Given the description of an element on the screen output the (x, y) to click on. 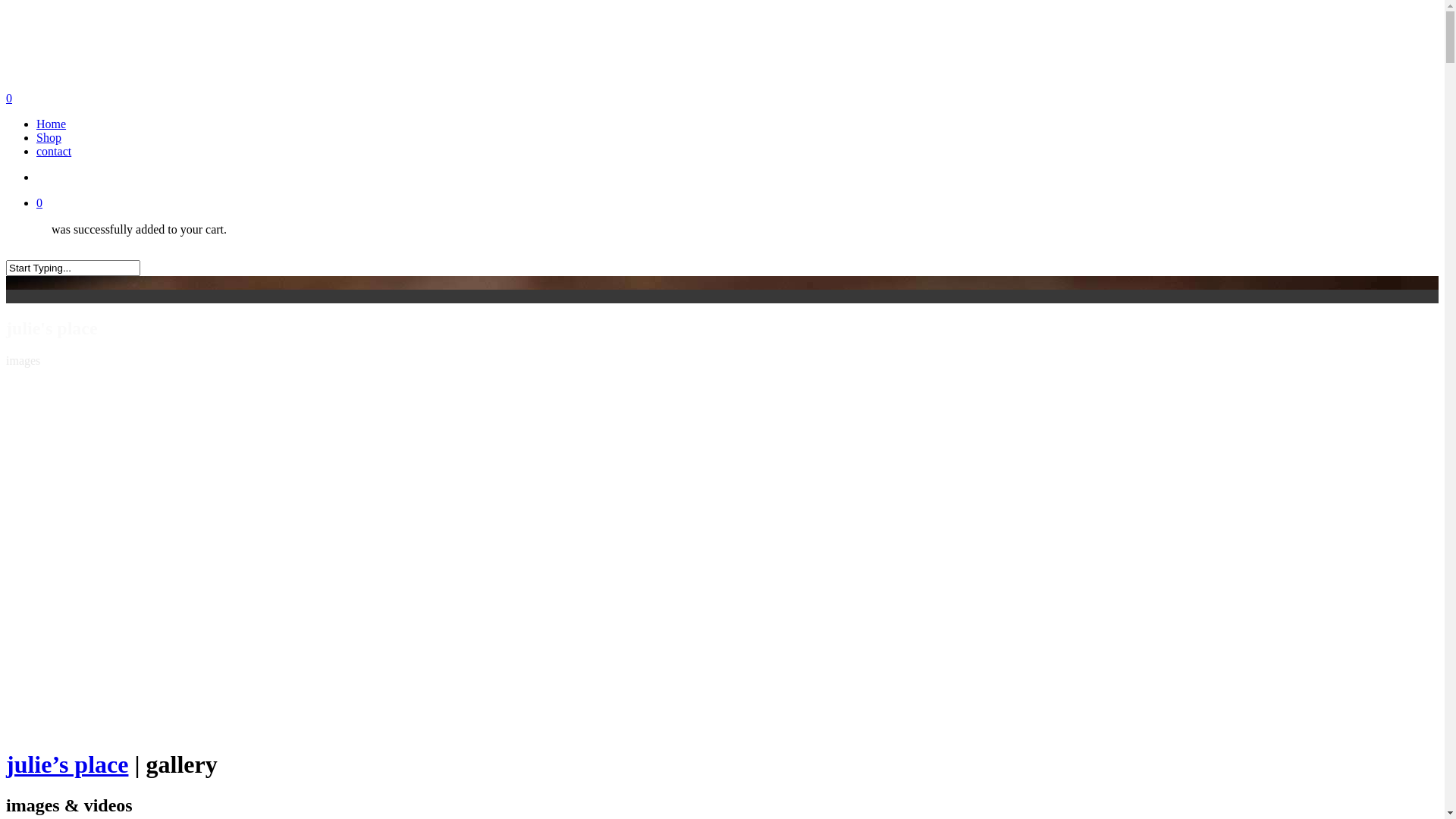
Skip to main content Element type: text (5, 5)
Shop Element type: text (48, 137)
0 Element type: text (722, 98)
0 Element type: text (737, 203)
Home Element type: text (50, 123)
contact Element type: text (53, 150)
